Given the description of an element on the screen output the (x, y) to click on. 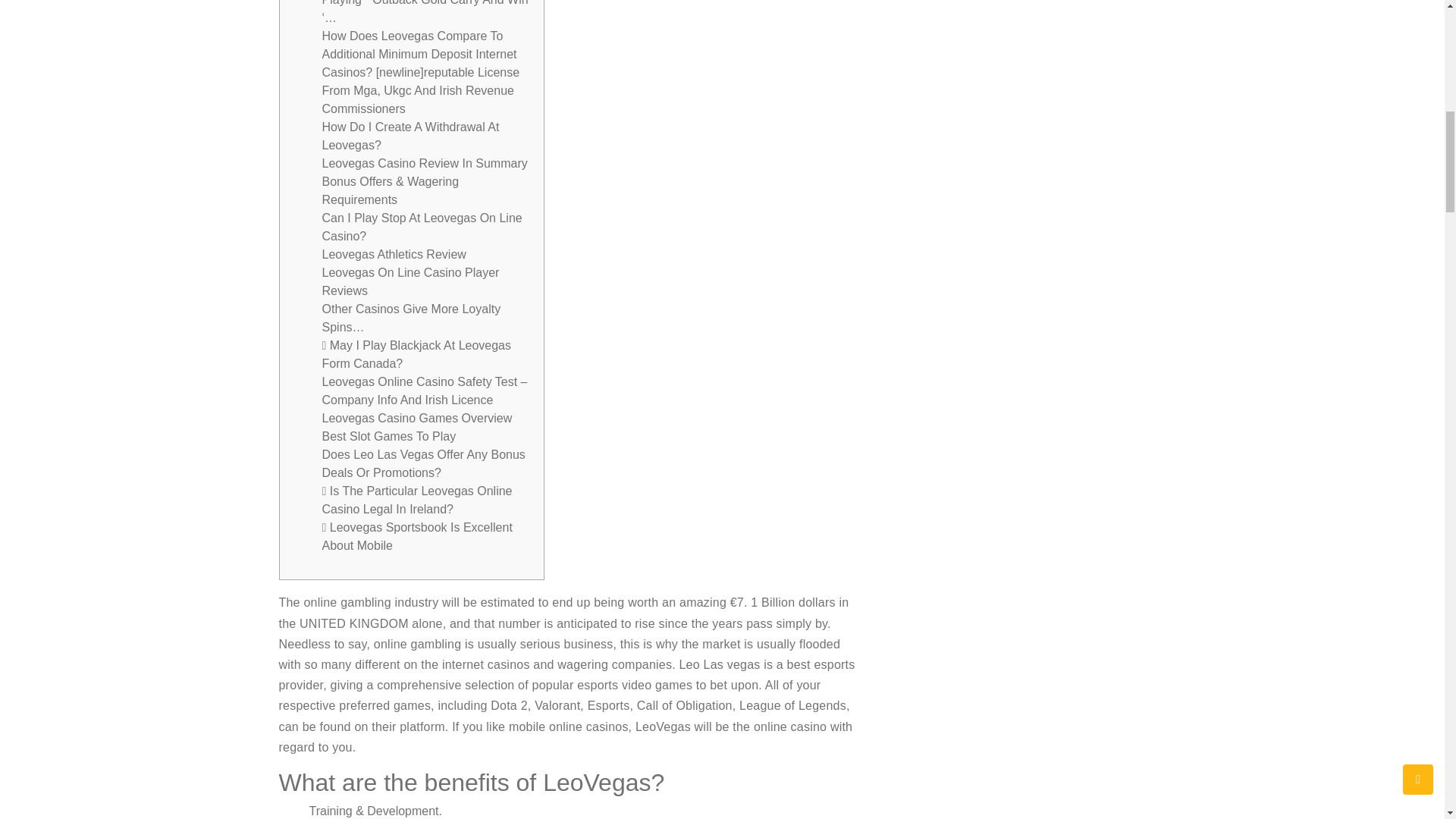
Leovegas Athletics Review (393, 254)
Can I Play Stop At Leovegas On Line Casino? (421, 226)
How Do I Create A Withdrawal At Leovegas? (410, 135)
Leovegas Casino Review In Summary (424, 163)
Best Slot Games To Play (388, 436)
Leovegas On Line Casino Player Reviews (410, 281)
Leovegas Casino Games Overview (416, 418)
